Given the description of an element on the screen output the (x, y) to click on. 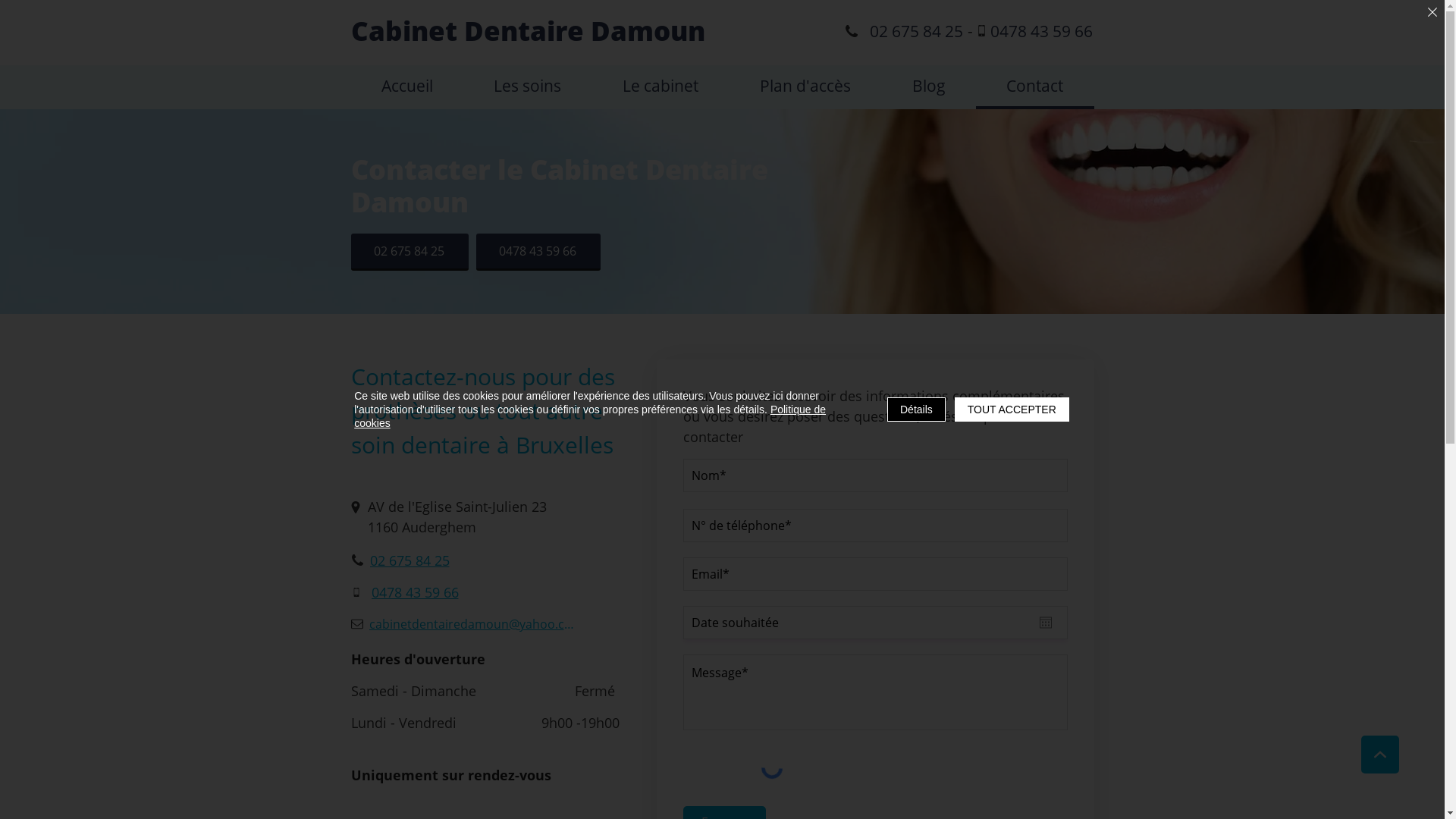
0478 43 59 66 Element type: text (1033, 30)
Accueil Element type: text (406, 87)
02 675 84 25 Element type: text (408, 251)
0478 43 59 66 Element type: text (404, 591)
Blog Element type: text (928, 87)
Cabinet Dentaire Damoun Element type: text (527, 30)
Contact Element type: text (1034, 87)
Le cabinet Element type: text (660, 87)
02 675 84 25 Element type: text (399, 559)
02 675 84 25 Element type: text (904, 30)
TOUT ACCEPTER Element type: text (1011, 409)
Politique de cookies Element type: text (589, 416)
cabinetdentairedamoun@yahoo.com Element type: text (465, 623)
0478 43 59 66 Element type: text (538, 251)
Les soins Element type: text (527, 87)
